Given the description of an element on the screen output the (x, y) to click on. 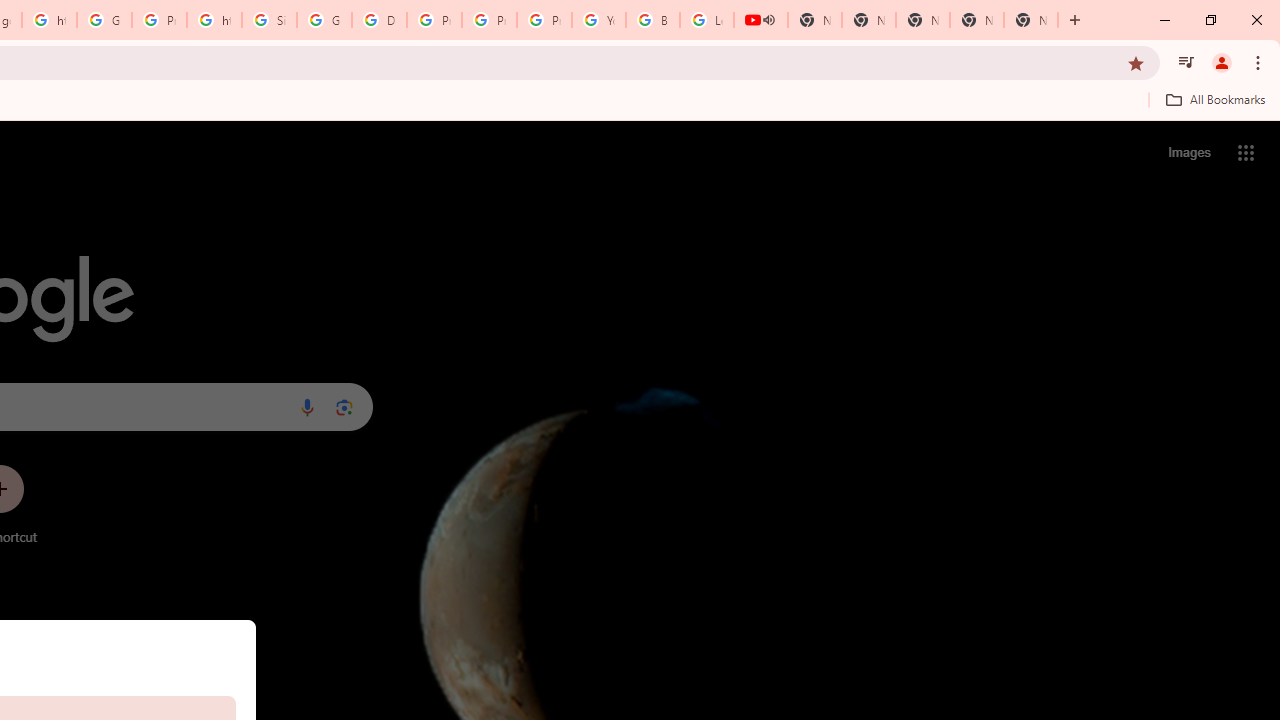
Privacy Help Center - Policies Help (489, 20)
https://scholar.google.com/ (48, 20)
YouTube (598, 20)
